Given the description of an element on the screen output the (x, y) to click on. 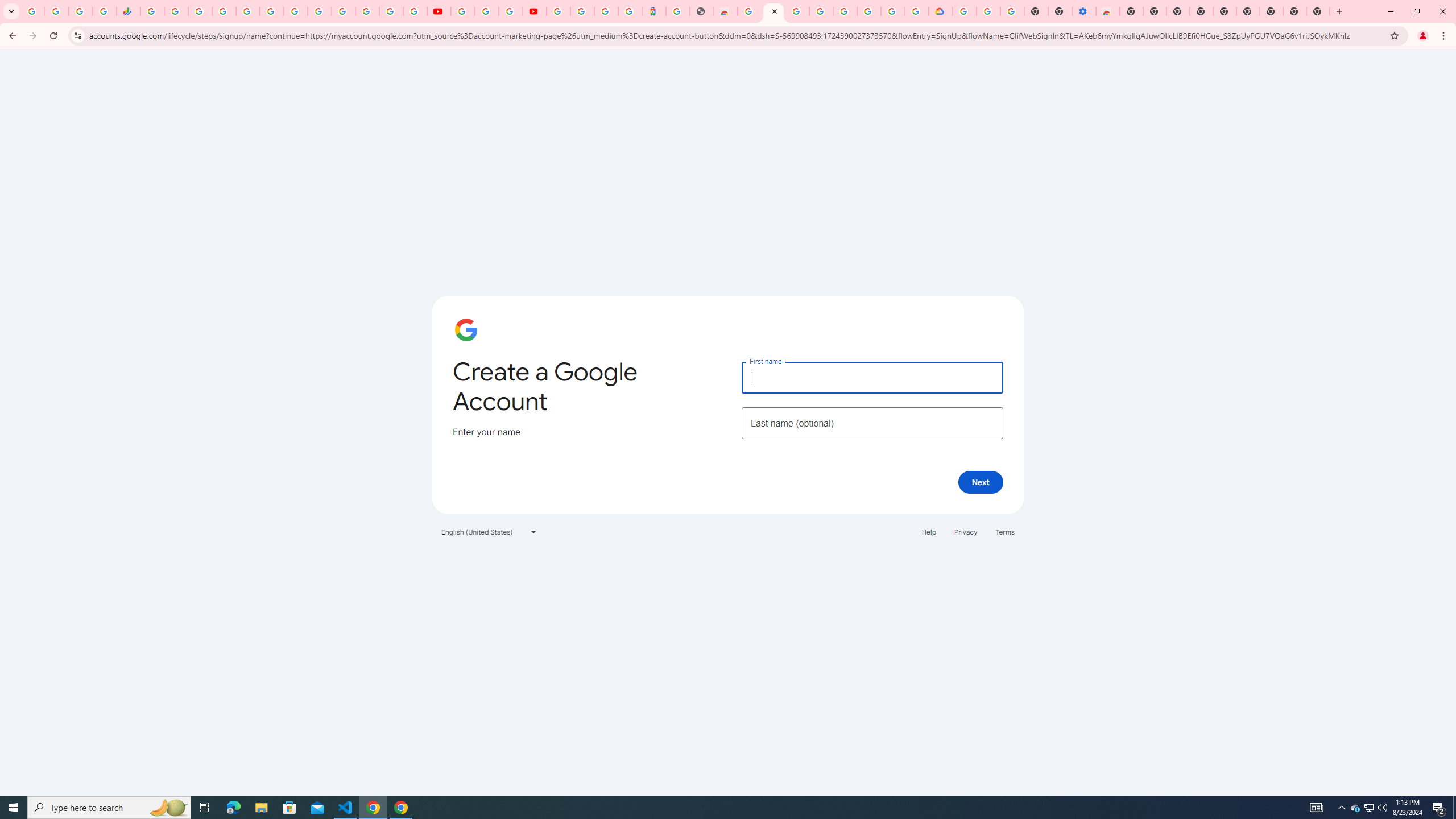
Sign in - Google Accounts (964, 11)
Ad Settings (796, 11)
Turn cookies on or off - Computer - Google Account Help (1012, 11)
Sign in - Google Accounts (558, 11)
New Tab (1271, 11)
